Given the description of an element on the screen output the (x, y) to click on. 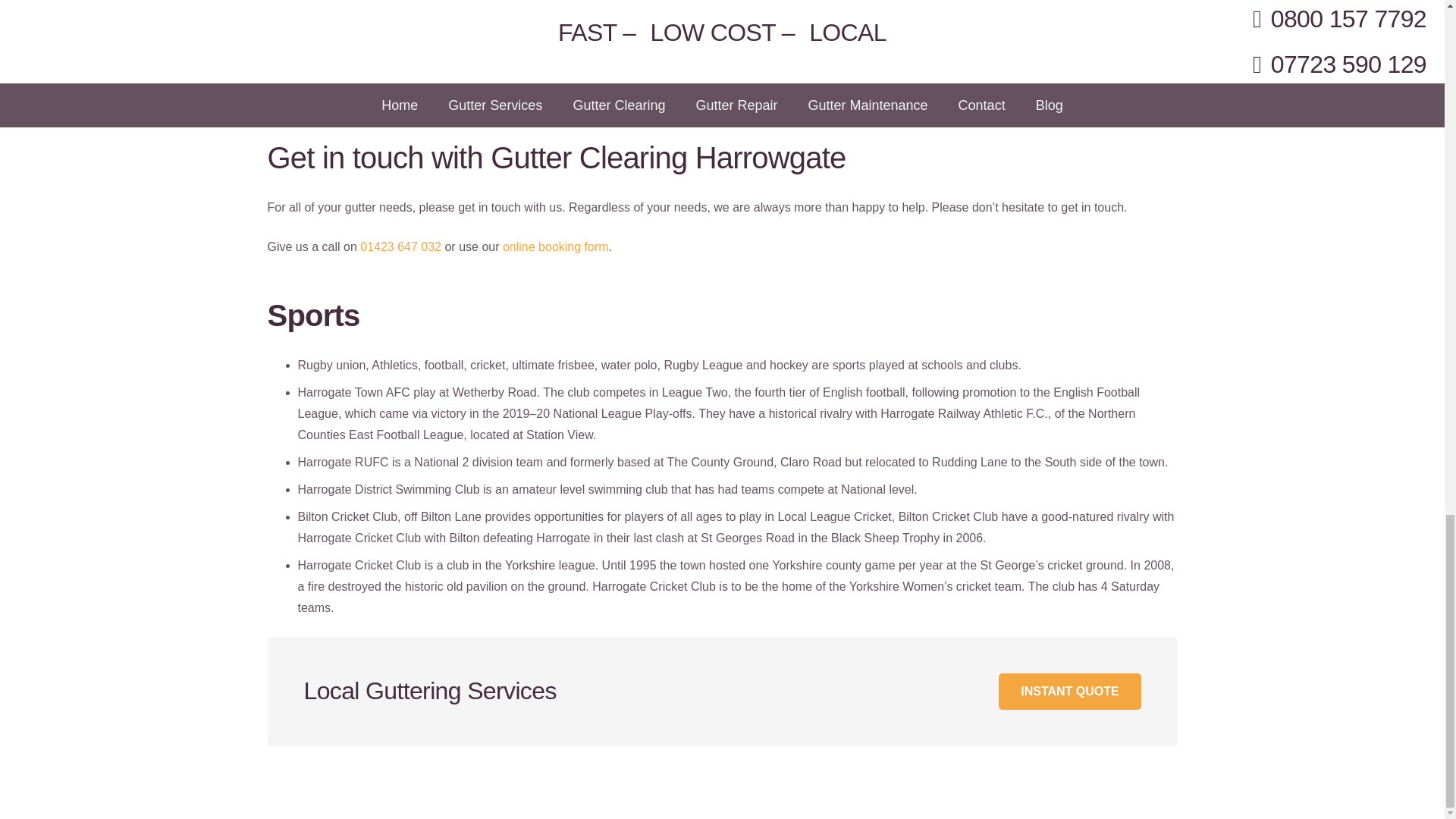
INSTANT QUOTE (1069, 691)
online booking form (555, 246)
01423 647 032 (400, 246)
Instant Quote (1069, 691)
